Given the description of an element on the screen output the (x, y) to click on. 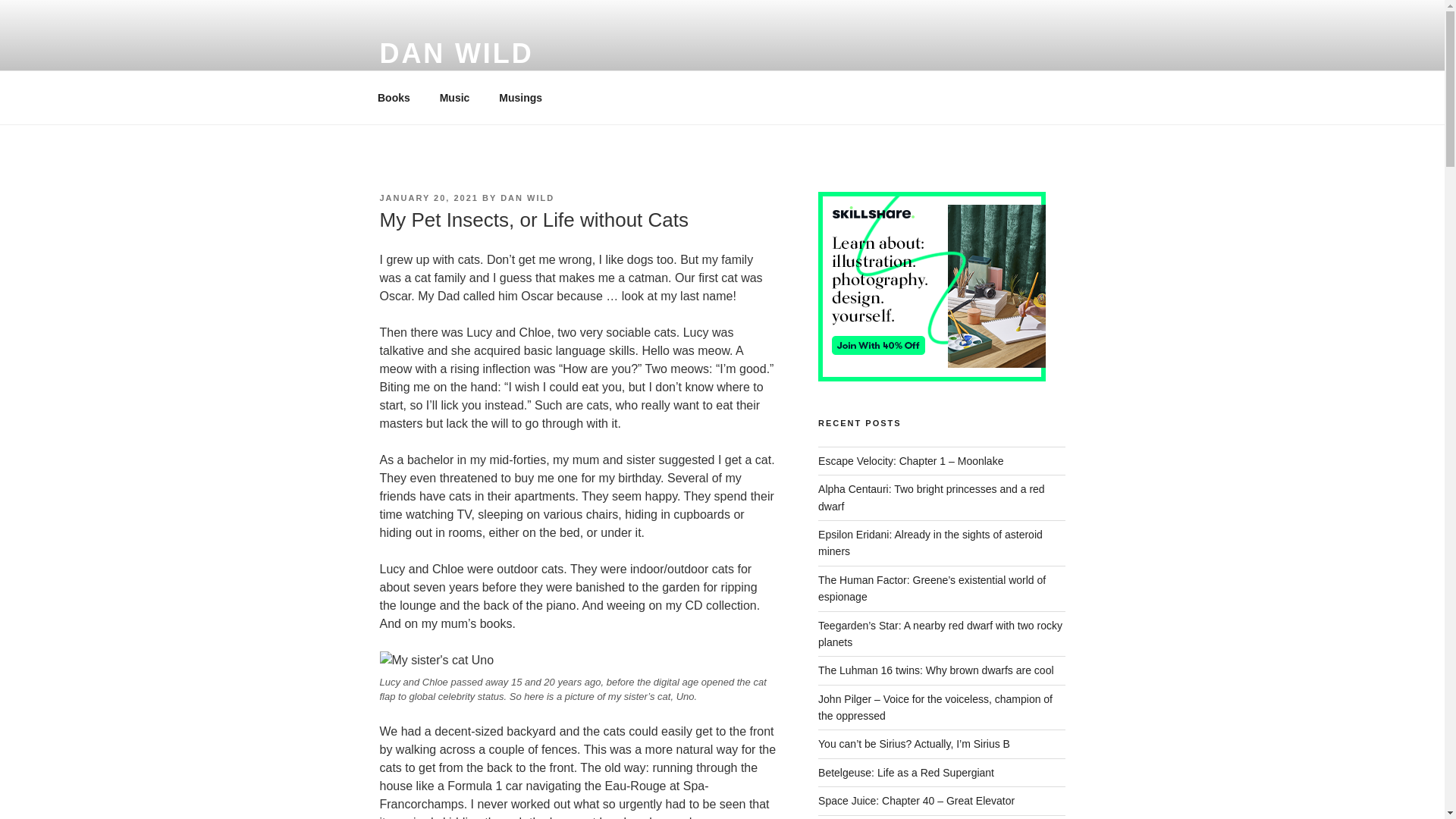
JANUARY 20, 2021 (427, 197)
DAN WILD (455, 52)
Music (454, 97)
Musings (526, 97)
DAN WILD (527, 197)
Books (393, 97)
